Given the description of an element on the screen output the (x, y) to click on. 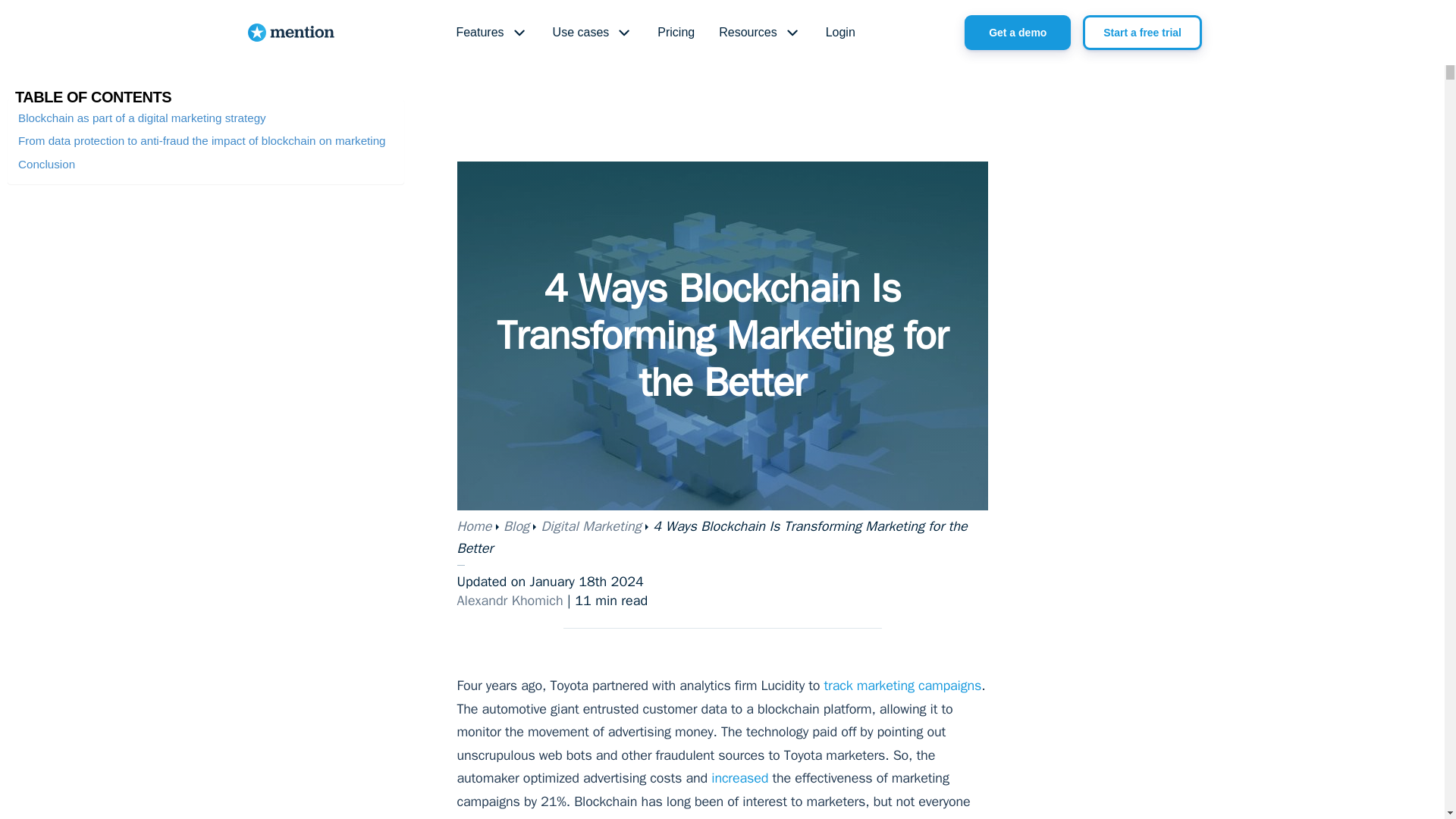
Conclusion (46, 164)
Pricing (675, 33)
Blockchain as part of a digital marketing strategy (141, 117)
